Given the description of an element on the screen output the (x, y) to click on. 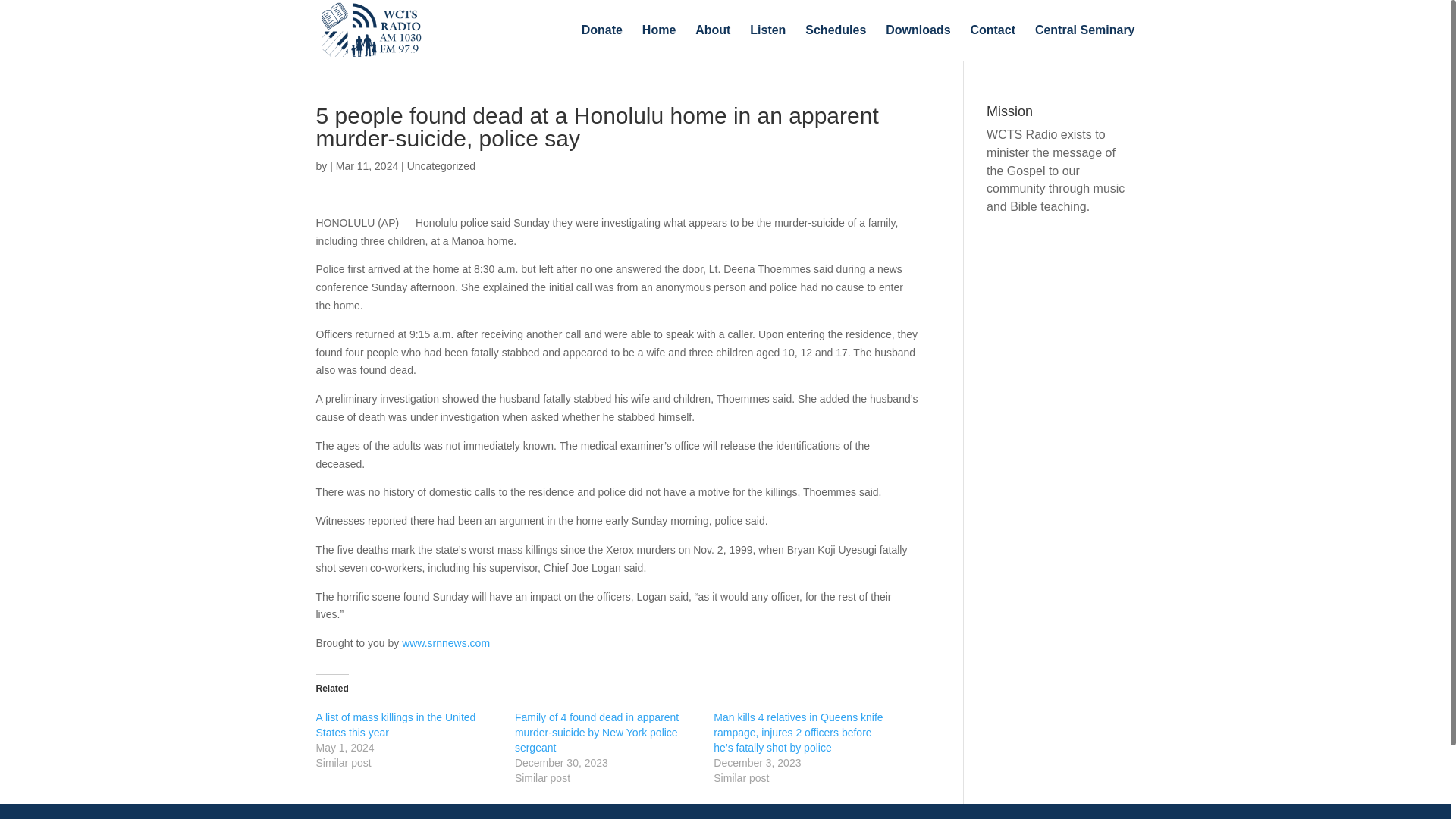
Central Seminary (1085, 42)
Contact (991, 42)
Donate (601, 42)
Schedules (835, 42)
Home (658, 42)
Listen (767, 42)
About (712, 42)
Downloads (917, 42)
www.srnnews.com (445, 643)
